Given the description of an element on the screen output the (x, y) to click on. 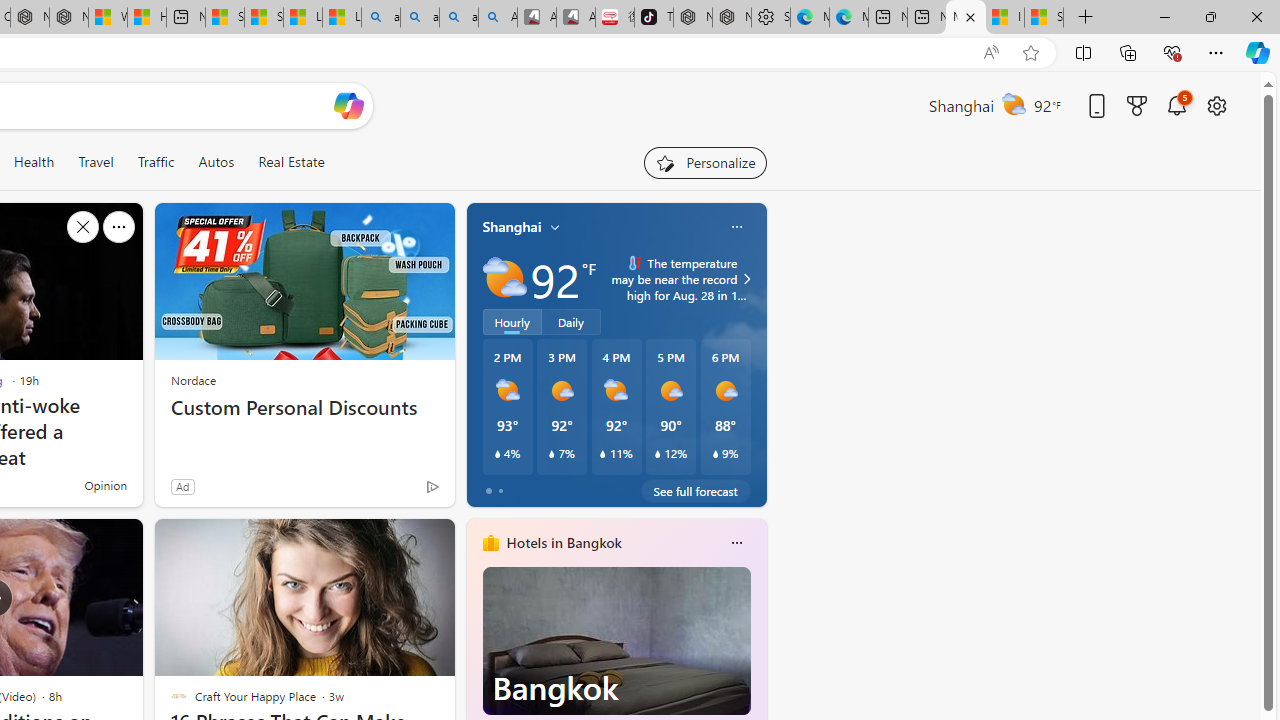
Hide this story (393, 542)
Shanghai (511, 227)
My location (555, 227)
tab-0 (488, 490)
